Given the description of an element on the screen output the (x, y) to click on. 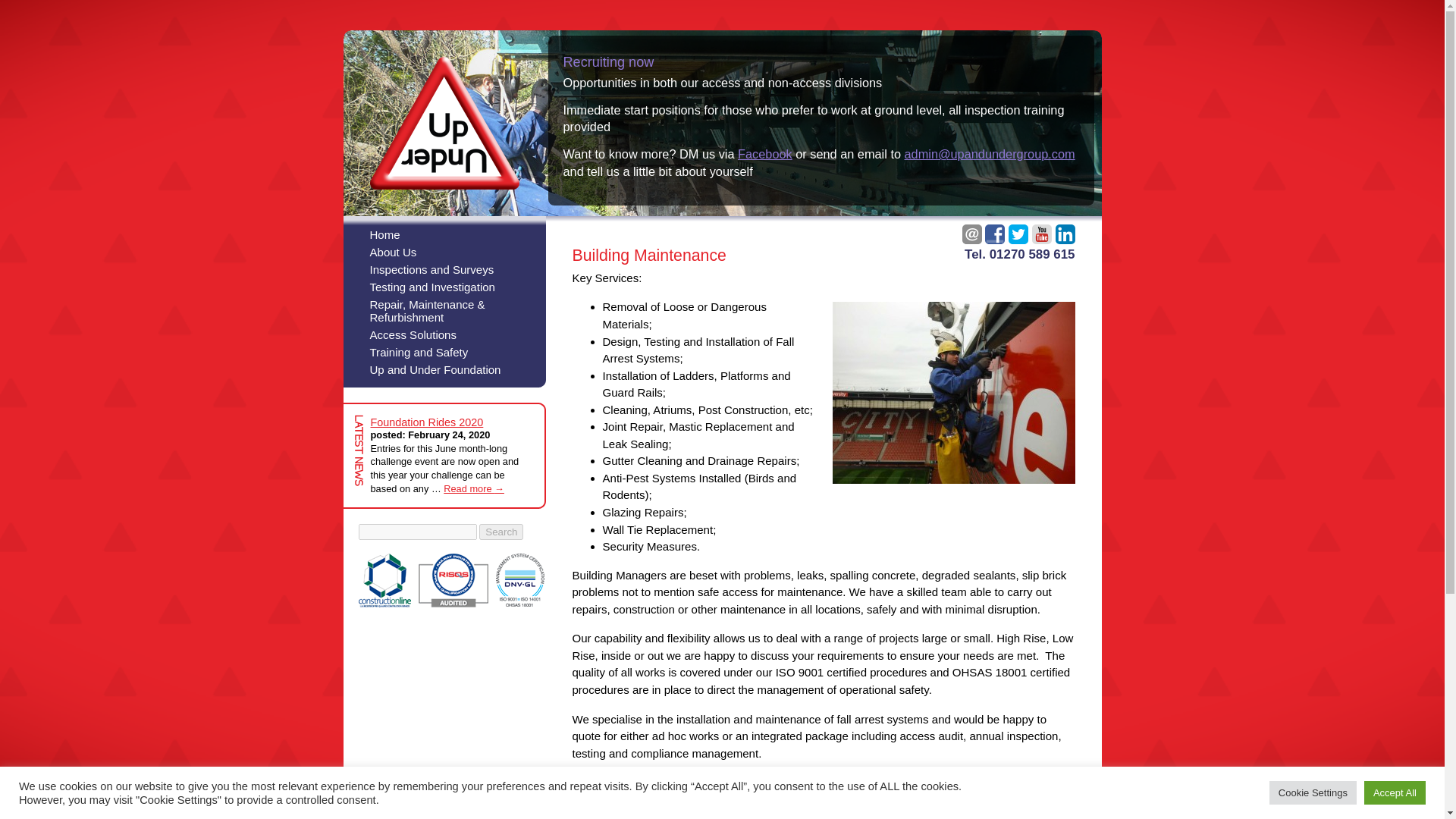
Follow us on YouTube (1041, 234)
Search (500, 531)
Follow us on LinkedIn (1065, 234)
Affiliates (451, 580)
Follow us on YouTube (1041, 234)
About Us (442, 249)
Follow us on Twitter (1018, 234)
Stoke City Repairs (953, 393)
Home (442, 231)
Contact Us (971, 234)
Contact Us (971, 234)
Follow us on Facebook (994, 234)
Testing and Investigation (442, 284)
Follow us on Facebook (994, 234)
Inspections and Surveys (442, 267)
